Given the description of an element on the screen output the (x, y) to click on. 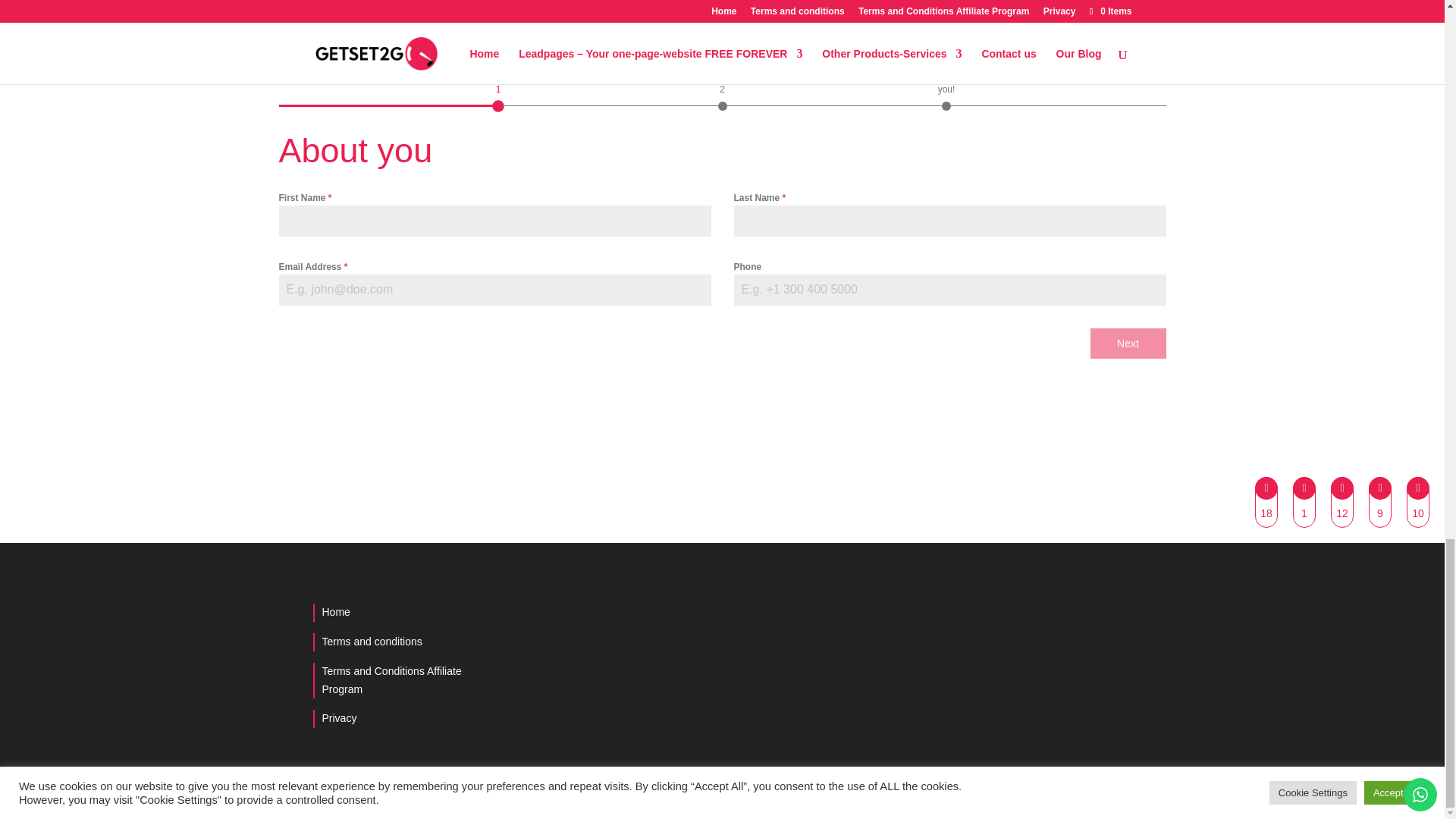
Page 1 (497, 88)
Page 2 (721, 88)
Thank you! (946, 88)
